Given the description of an element on the screen output the (x, y) to click on. 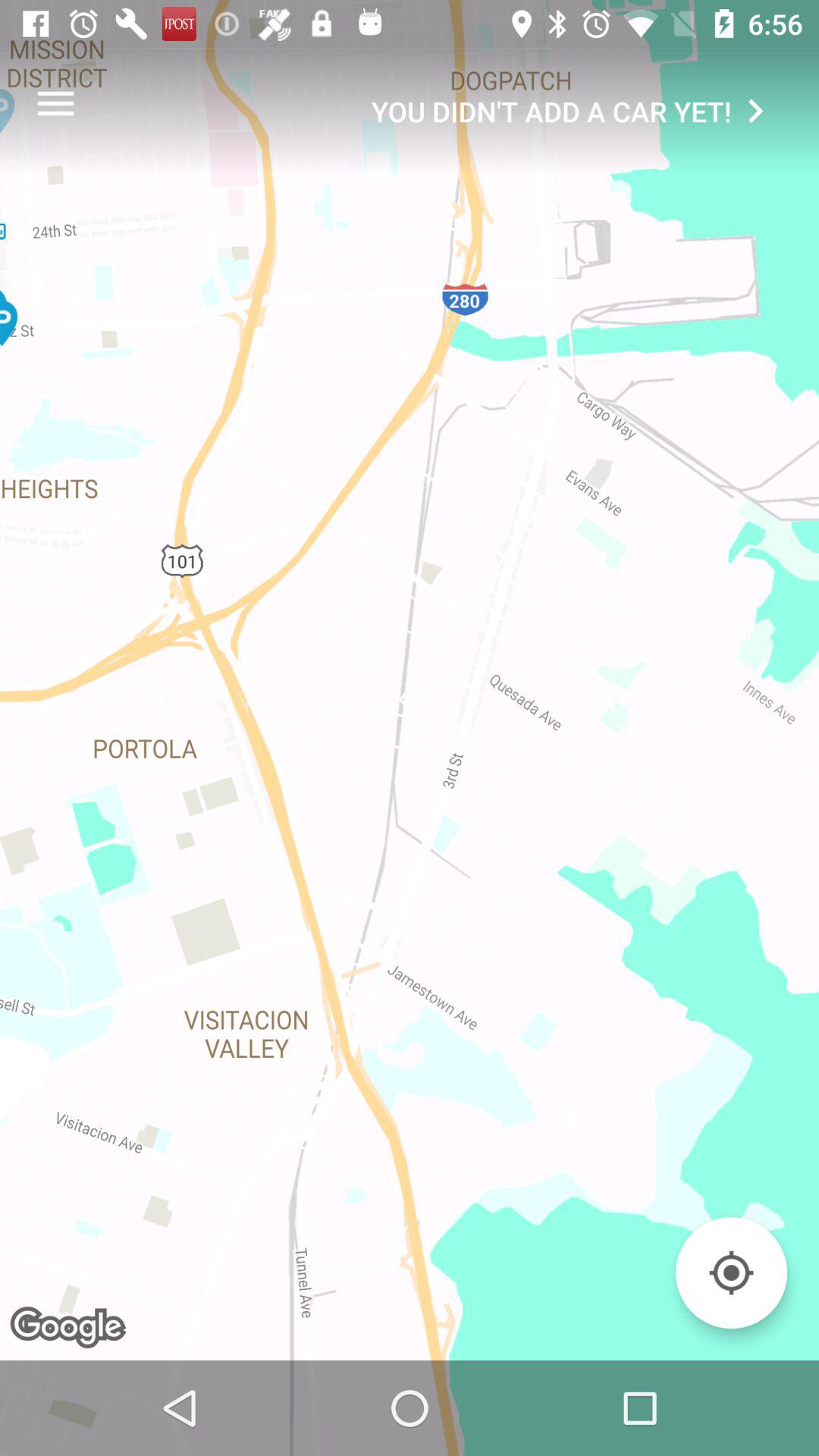
open the icon at the top left corner (55, 103)
